Given the description of an element on the screen output the (x, y) to click on. 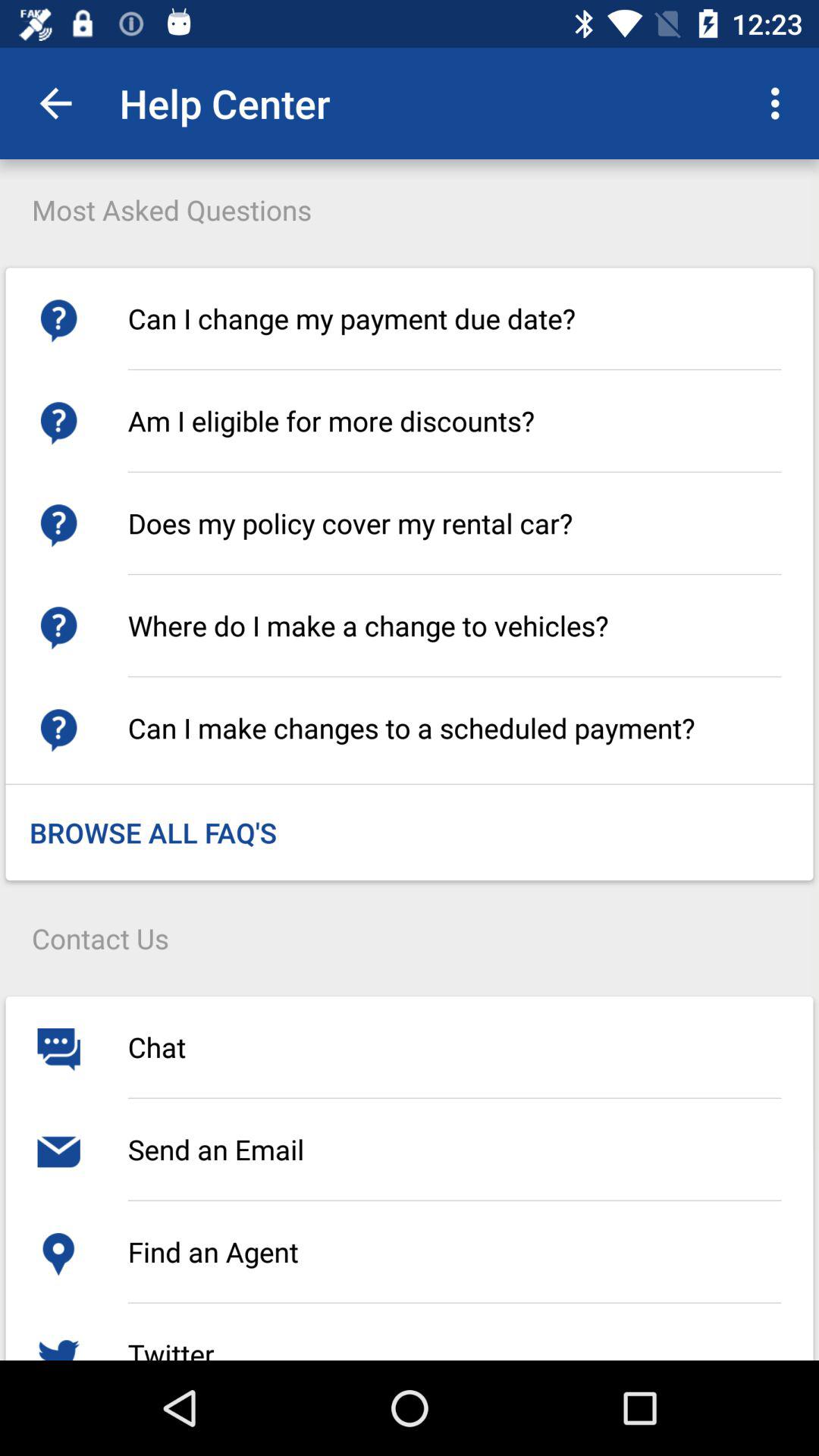
select the icon at the top right corner (779, 103)
